Given the description of an element on the screen output the (x, y) to click on. 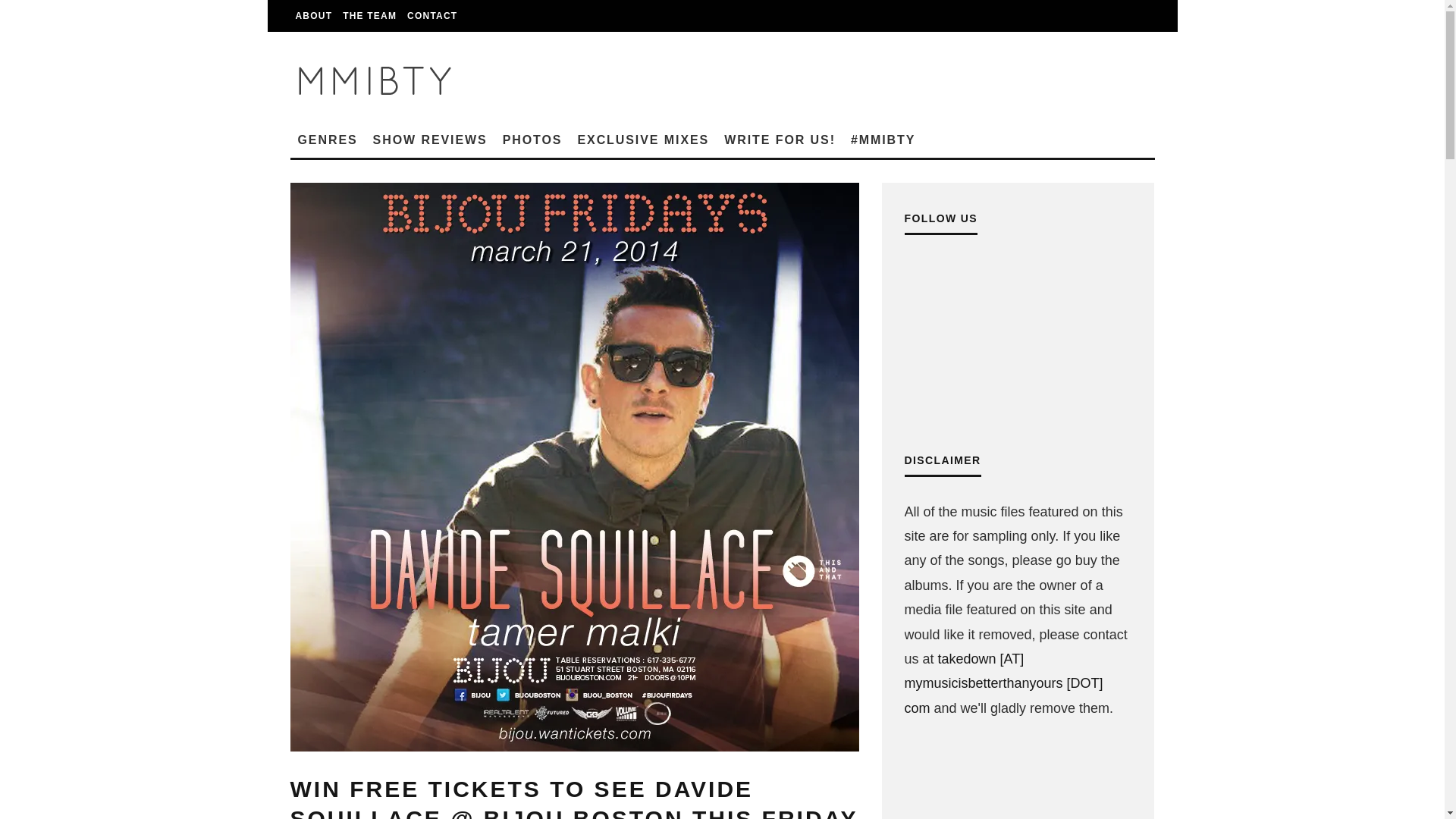
EXCLUSIVE MIXES (642, 140)
CONTACT (432, 15)
THE TEAM (369, 15)
SHOW REVIEWS (430, 140)
WRITE FOR US! (779, 140)
PHOTOS (532, 140)
GENRES (327, 140)
ABOUT (313, 15)
Advertisement (1017, 785)
